Given the description of an element on the screen output the (x, y) to click on. 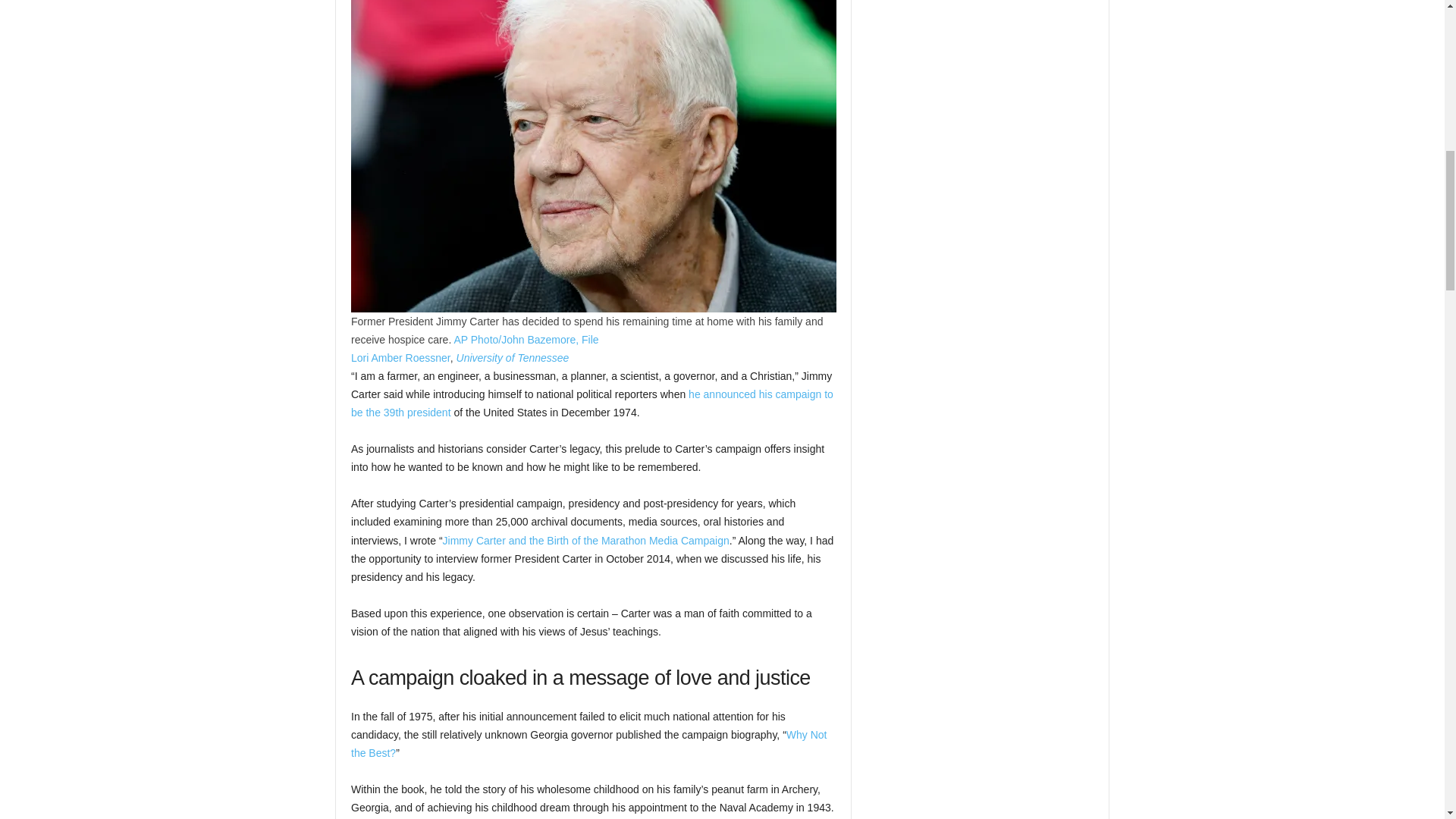
he announced his campaign to be the 39th president (591, 403)
Jimmy Carter and the Birth of the Marathon Media Campaign (585, 540)
Lori Amber Roessner (399, 357)
Why Not the Best? (588, 743)
University of Tennessee (513, 357)
